Given the description of an element on the screen output the (x, y) to click on. 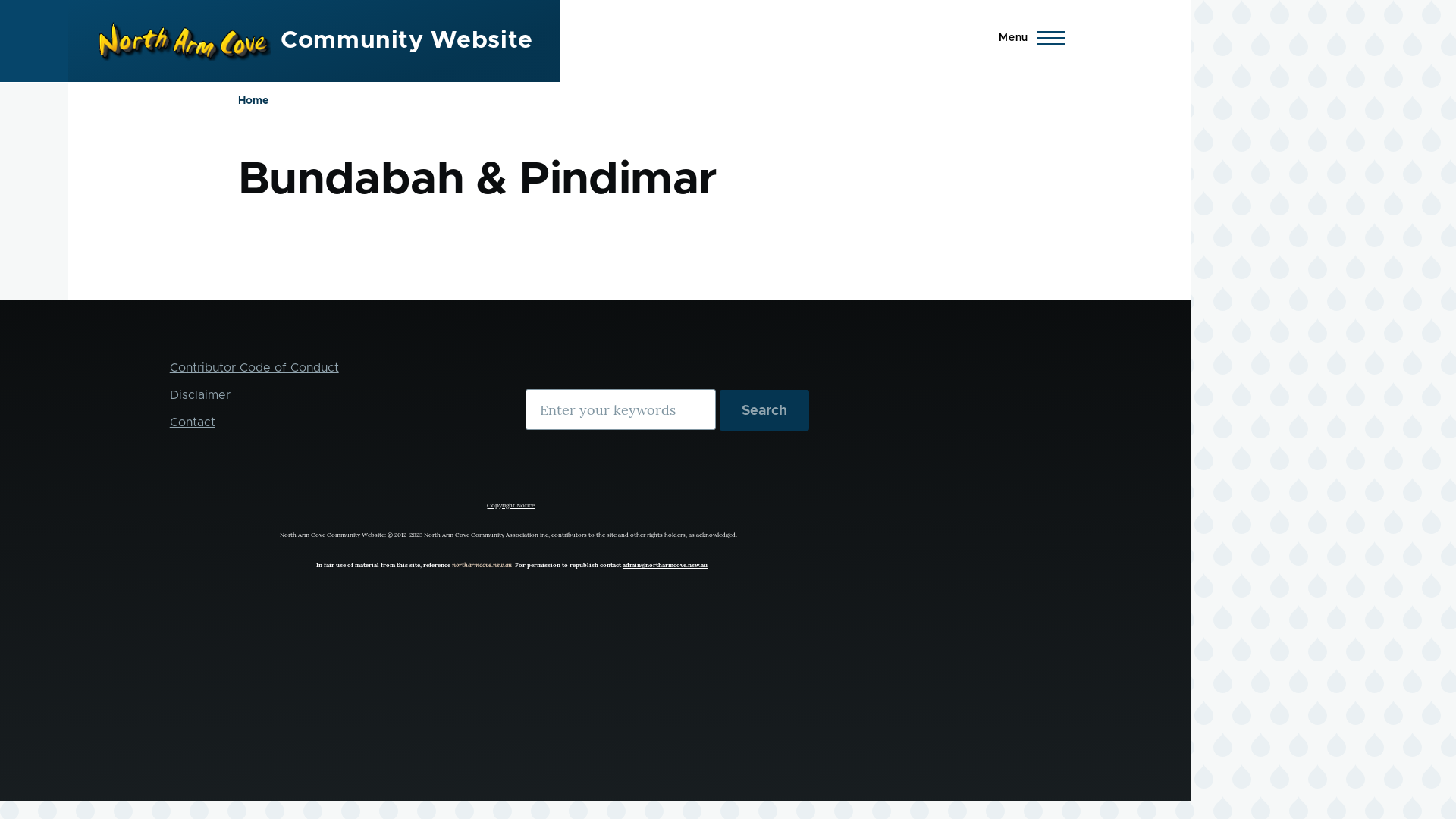
Contributor Code of Conduct Element type: text (253, 367)
admin@northarmcove.nsw.au Element type: text (664, 564)
Contact Element type: text (192, 422)
Enter the terms you wish to search for. Element type: hover (620, 409)
Community Website Element type: text (406, 40)
Disclaimer Element type: text (199, 395)
Skip to main content Element type: text (595, 6)
Copyright Notice Element type: text (510, 502)
Home Element type: text (253, 100)
Menu Element type: text (1027, 37)
Search Element type: text (764, 409)
